Given the description of an element on the screen output the (x, y) to click on. 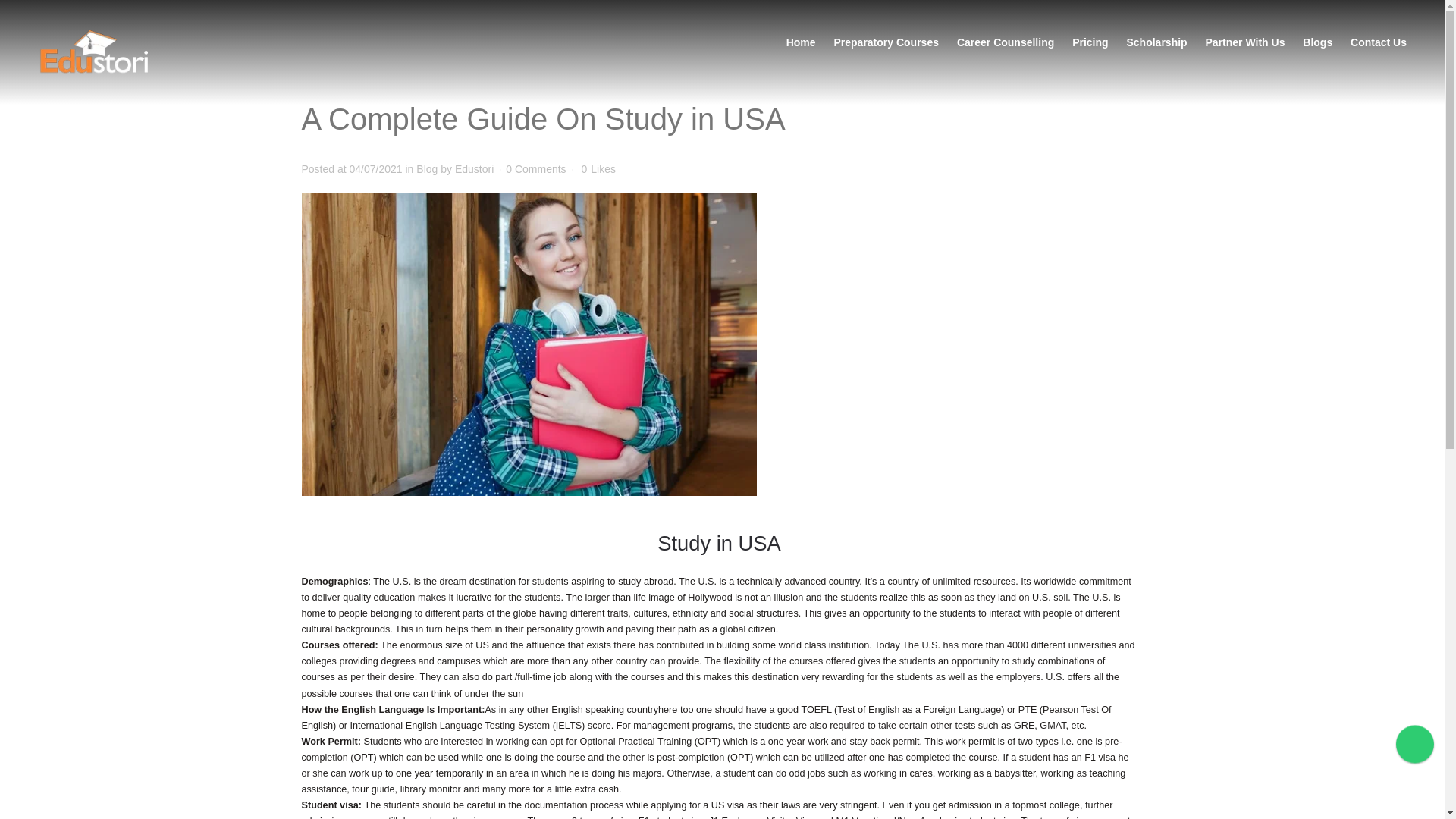
Career Counselling (1005, 42)
Partner With Us (1245, 42)
Scholarship (1157, 42)
Like this (597, 168)
Preparatory Courses (885, 42)
Contact Us (1378, 42)
